Given the description of an element on the screen output the (x, y) to click on. 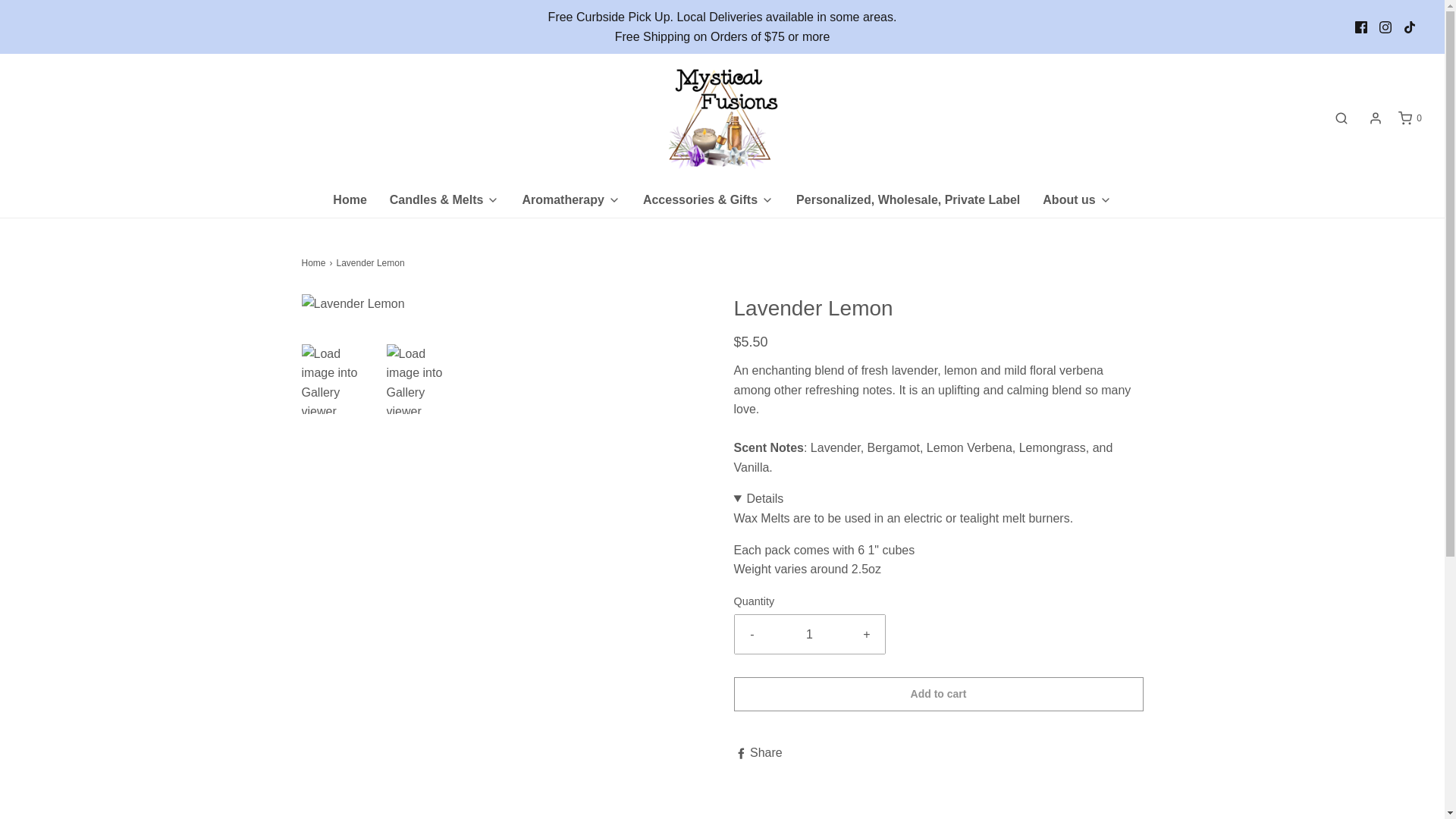
Instagram icon (1384, 27)
Cart (1409, 118)
Instagram icon (1385, 27)
TikTok icon (1409, 27)
1 (809, 634)
Log in (1375, 118)
Back to the frontpage (315, 263)
Facebook icon (1361, 27)
TikTok icon (1409, 27)
Facebook icon (1361, 27)
